Given the description of an element on the screen output the (x, y) to click on. 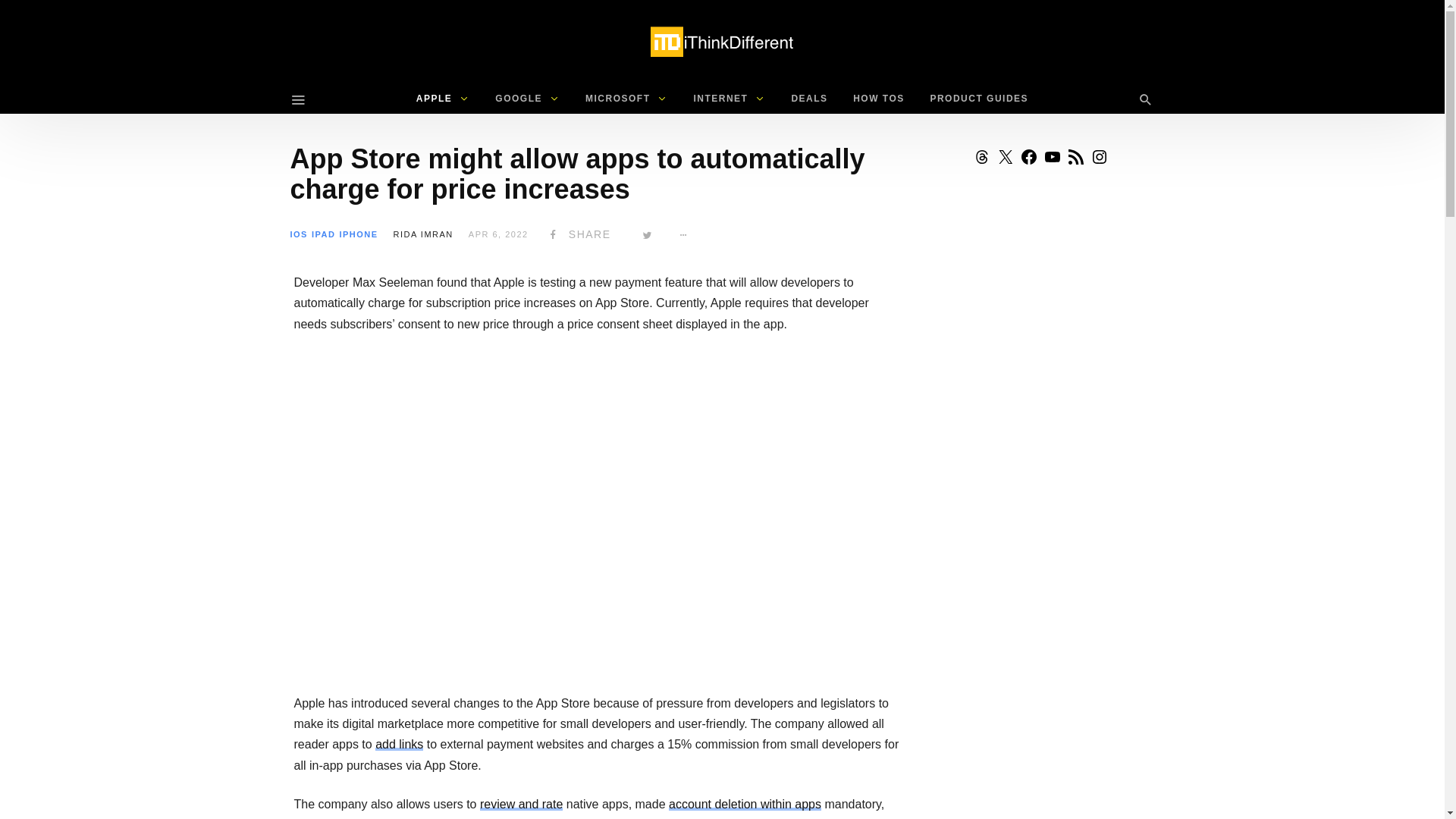
GOOGLE (526, 98)
View all posts in iPad (322, 234)
View all posts in iOS (298, 234)
View all posts in iPhone (358, 234)
DEALS (808, 98)
INTERNET (728, 98)
PRODUCT GUIDES (978, 98)
More (684, 234)
IPAD (322, 234)
HOW TOS (878, 98)
